Given the description of an element on the screen output the (x, y) to click on. 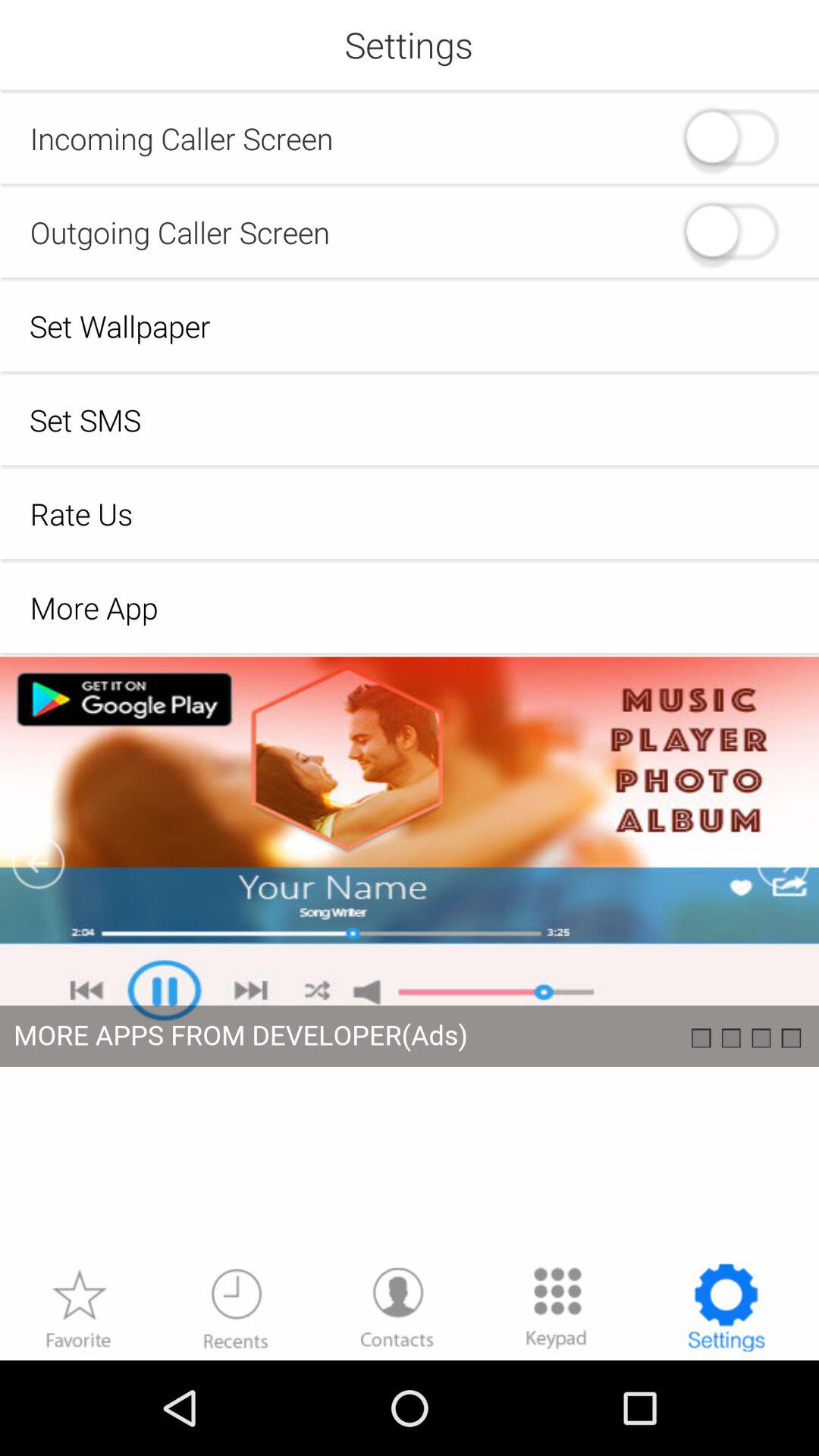
setting the option (725, 1307)
